Given the description of an element on the screen output the (x, y) to click on. 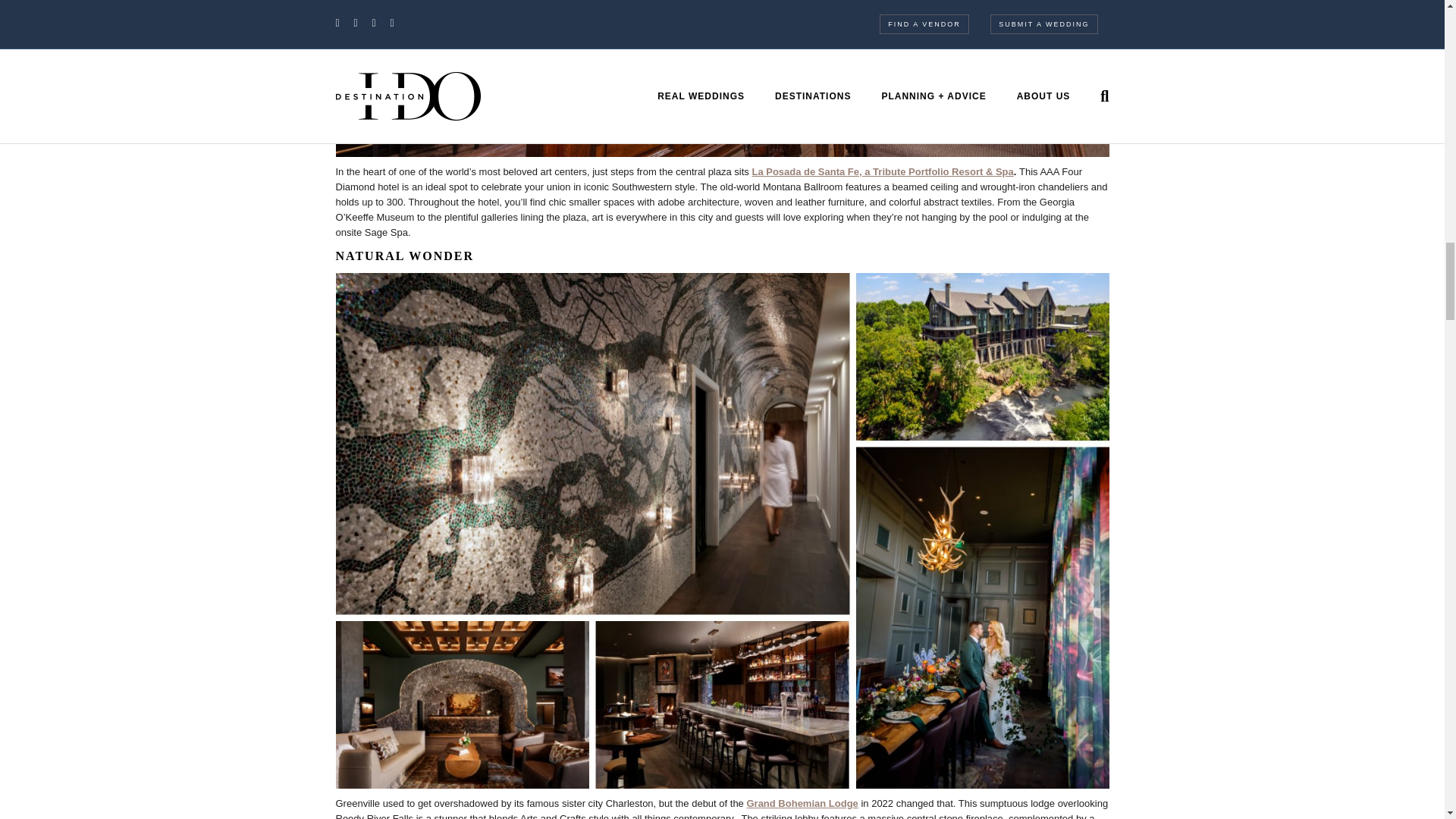
Grand Bohemian Lodge (801, 803)
